Given the description of an element on the screen output the (x, y) to click on. 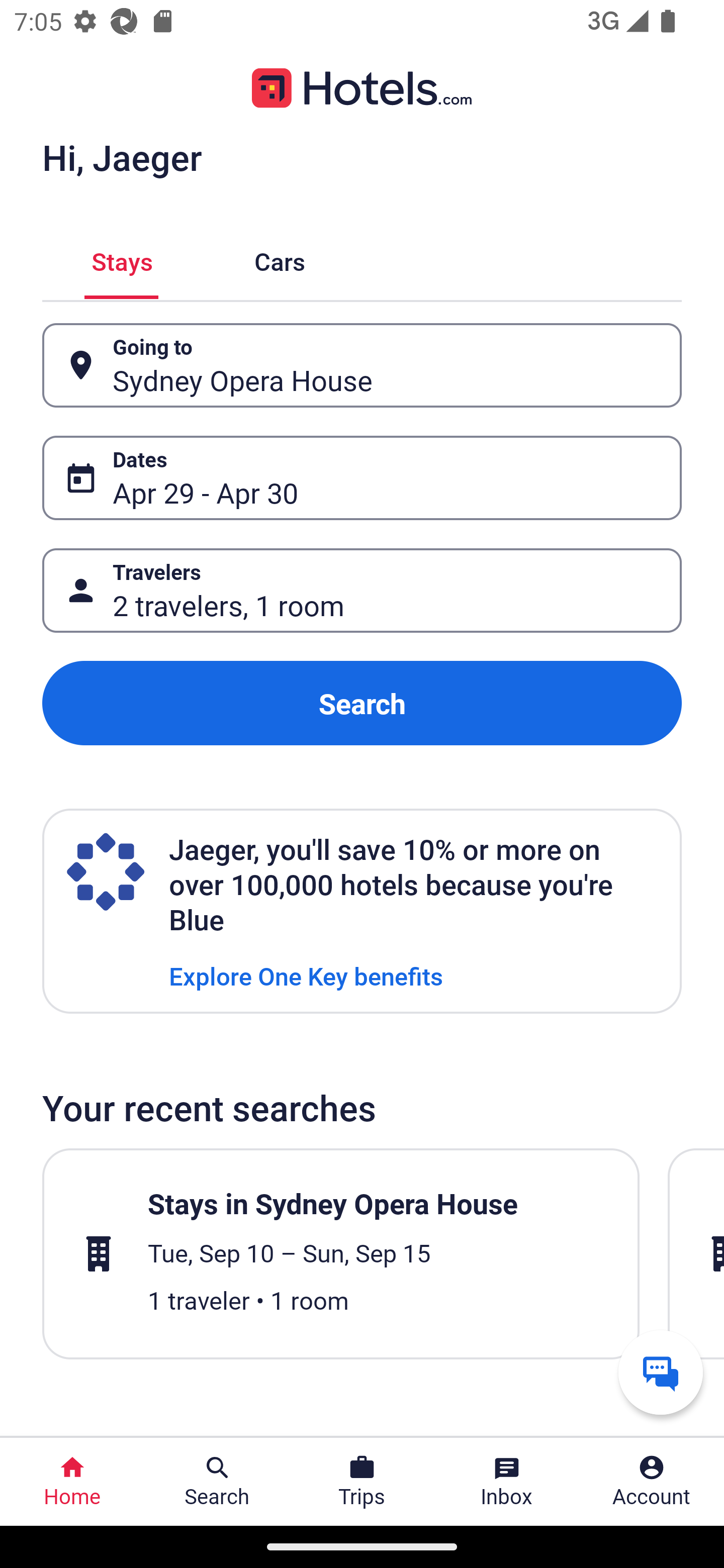
Hi, Jaeger (121, 156)
Cars (279, 259)
Going to Button Sydney Opera House (361, 365)
Dates Button Apr 29 - Apr 30 (361, 477)
Travelers Button 2 travelers, 1 room (361, 590)
Search (361, 702)
Get help from a virtual agent (660, 1371)
Search Search Button (216, 1481)
Trips Trips Button (361, 1481)
Inbox Inbox Button (506, 1481)
Account Profile. Button (651, 1481)
